Given the description of an element on the screen output the (x, y) to click on. 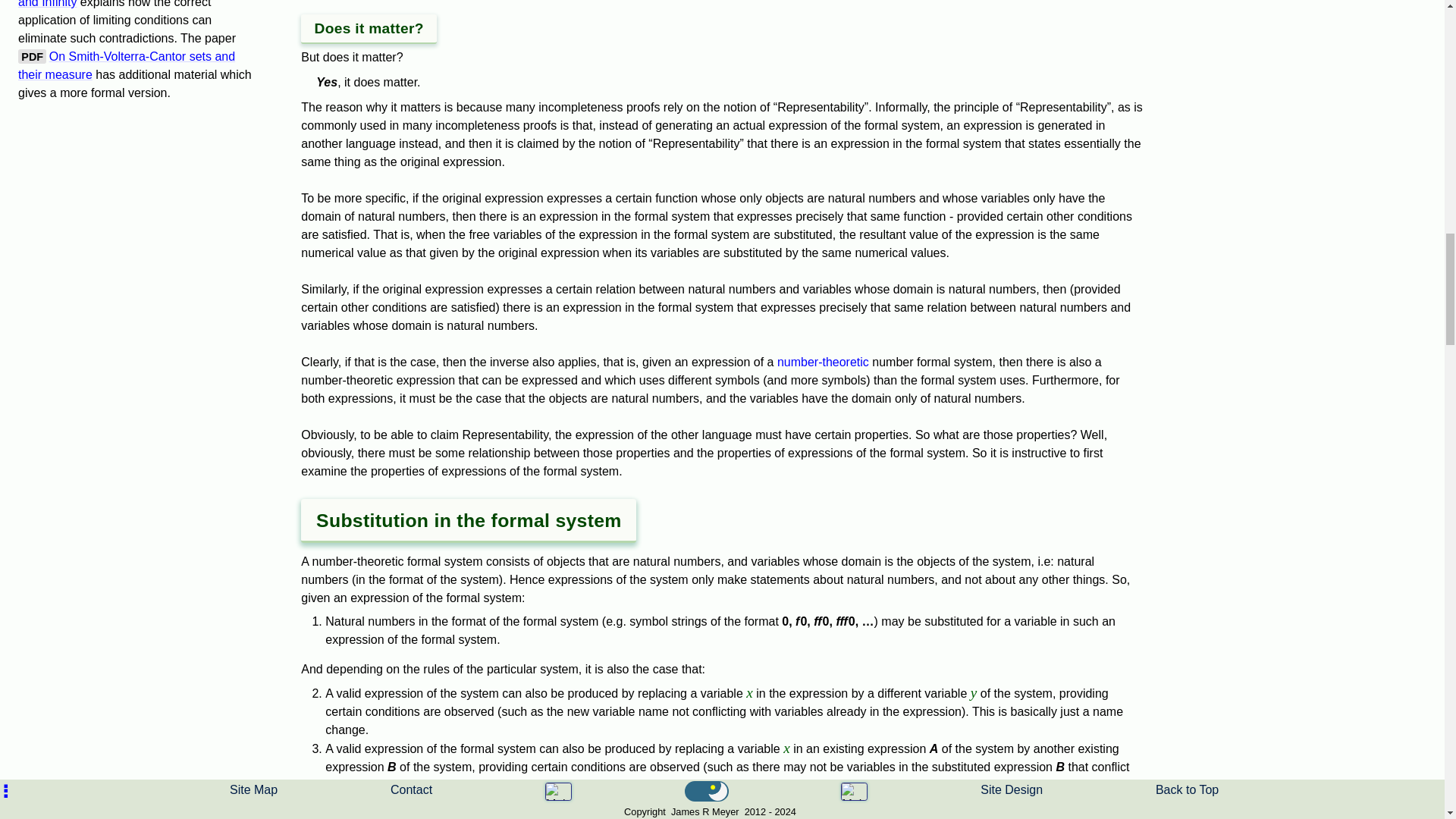
number-theoretic (823, 361)
